Given the description of an element on the screen output the (x, y) to click on. 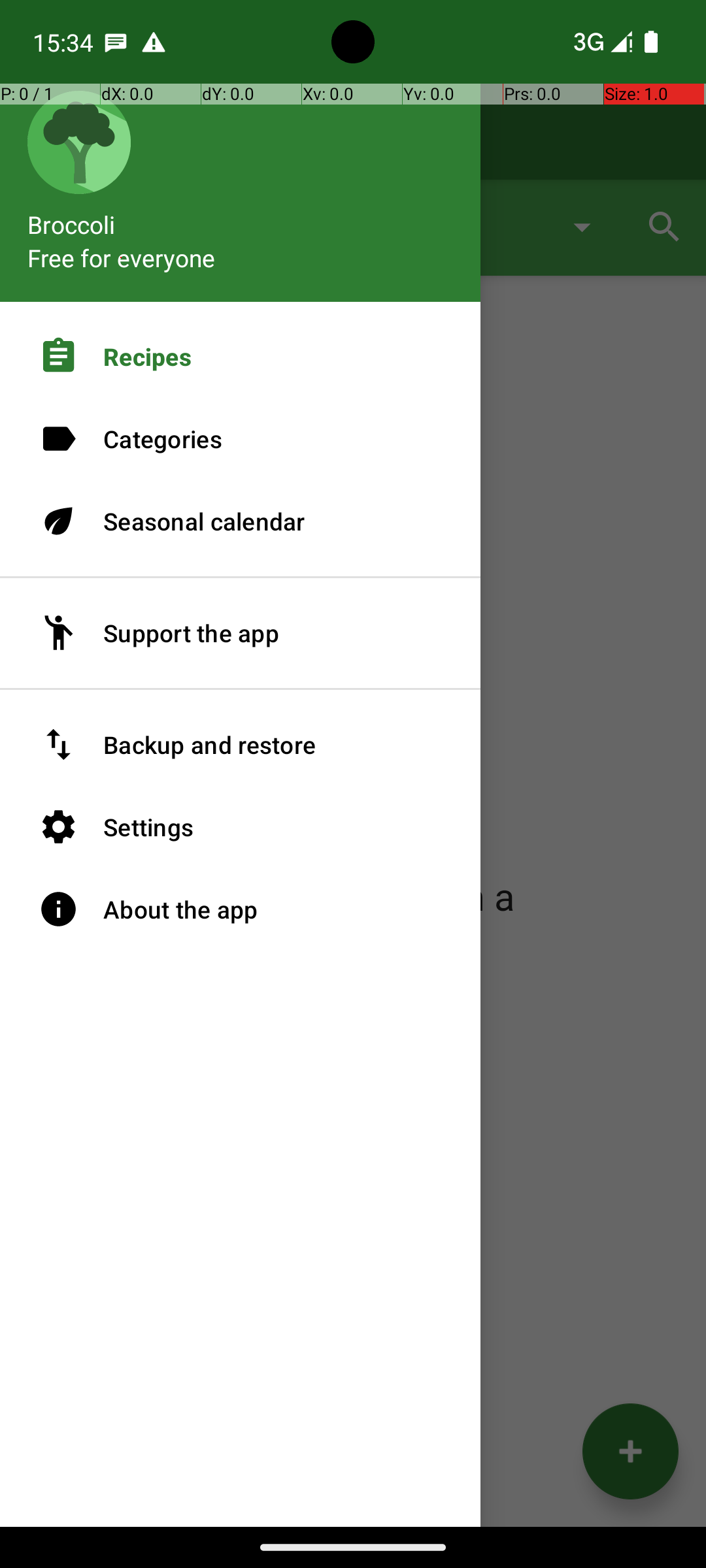
Free for everyone Element type: android.widget.TextView (121, 257)
Seasonal calendar Element type: android.widget.CheckedTextView (239, 521)
Support the app Element type: android.widget.CheckedTextView (239, 632)
Backup and restore Element type: android.widget.CheckedTextView (239, 744)
About the app Element type: android.widget.CheckedTextView (239, 909)
